Given the description of an element on the screen output the (x, y) to click on. 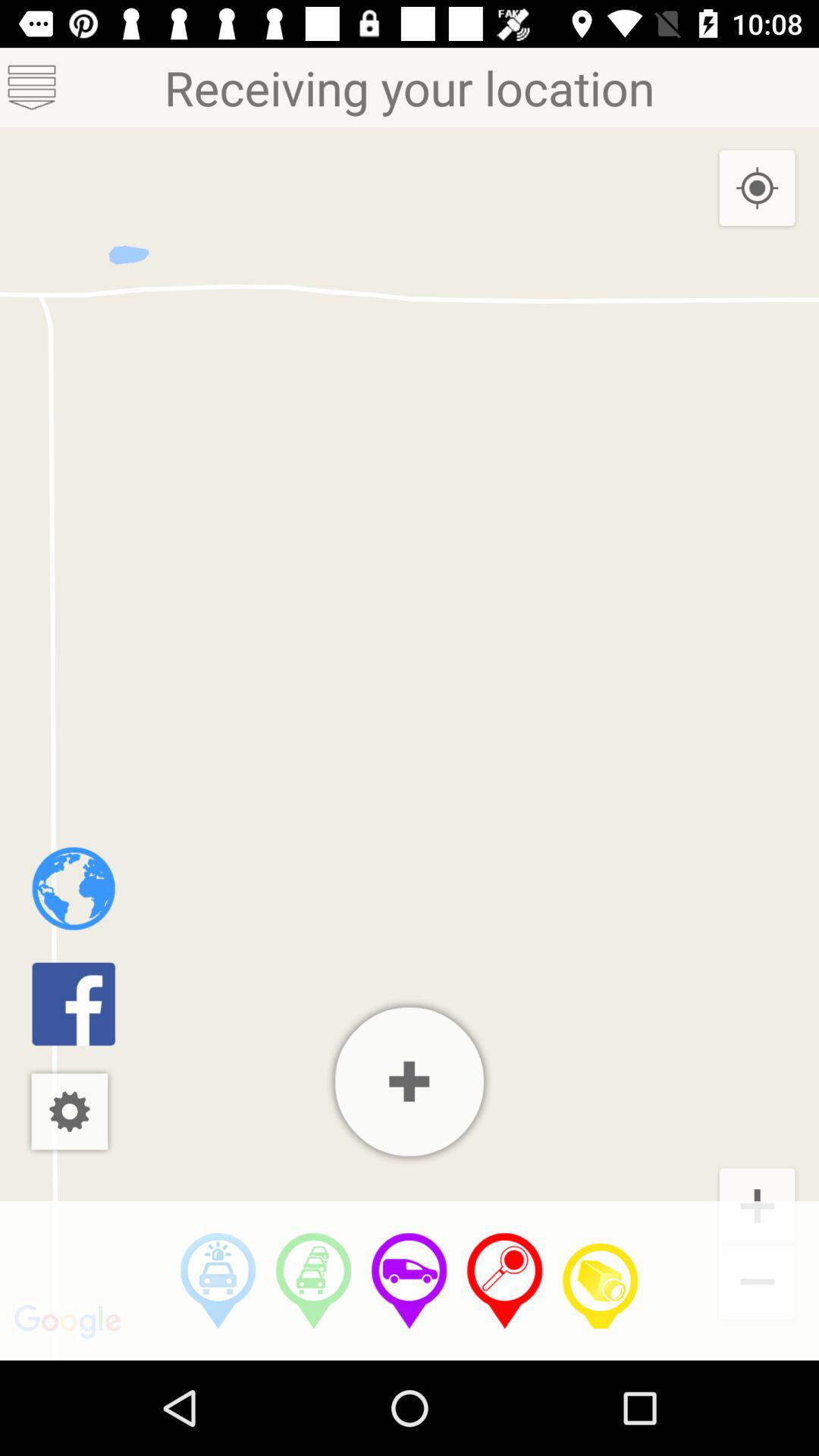
turn on the icon at the top left corner (31, 87)
